Given the description of an element on the screen output the (x, y) to click on. 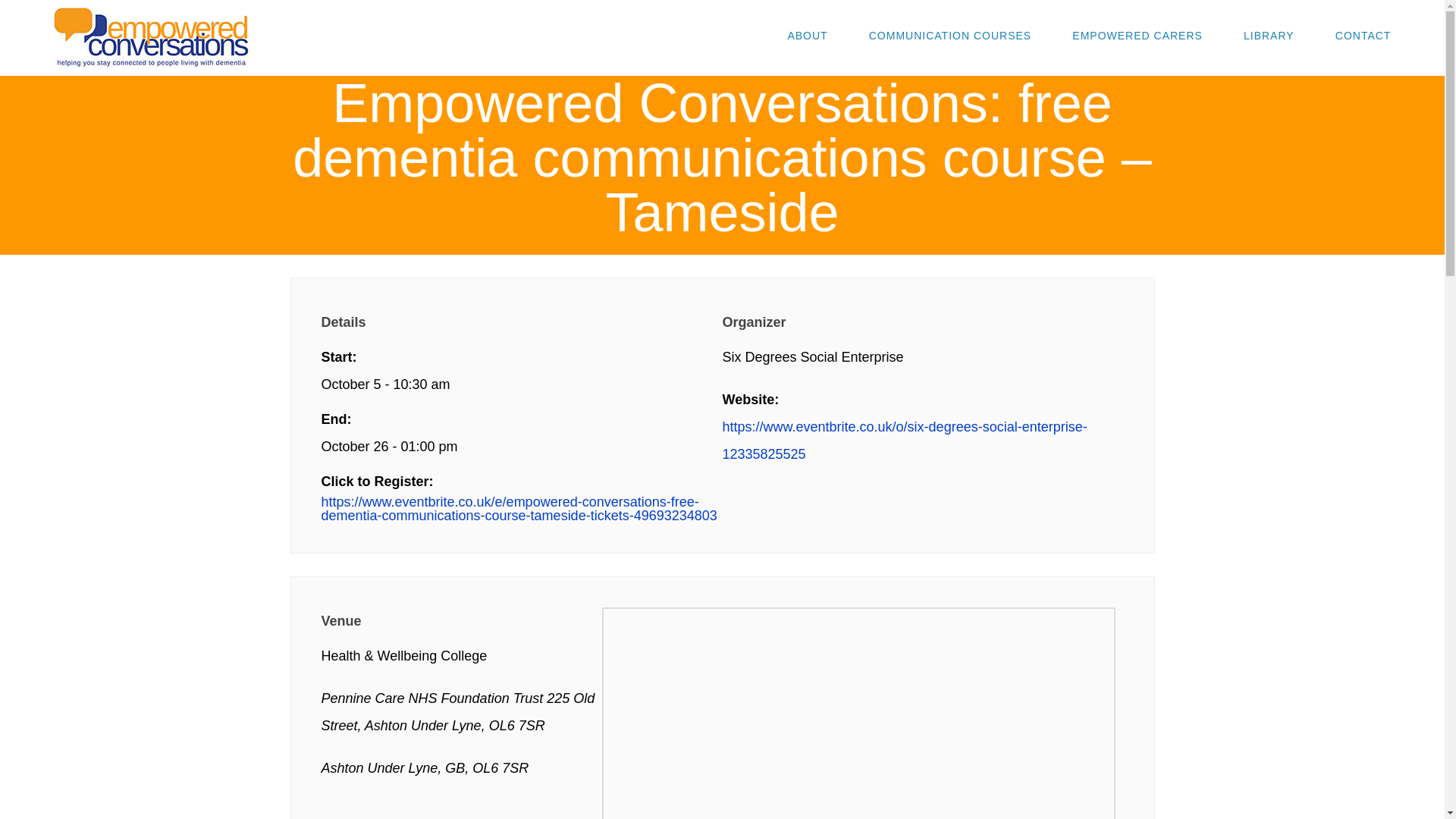
CONTACT (1357, 35)
ABOUT (802, 35)
LIBRARY (1263, 35)
EMPOWERED CARERS (1132, 35)
COMMUNICATION COURSES (945, 35)
